Given the description of an element on the screen output the (x, y) to click on. 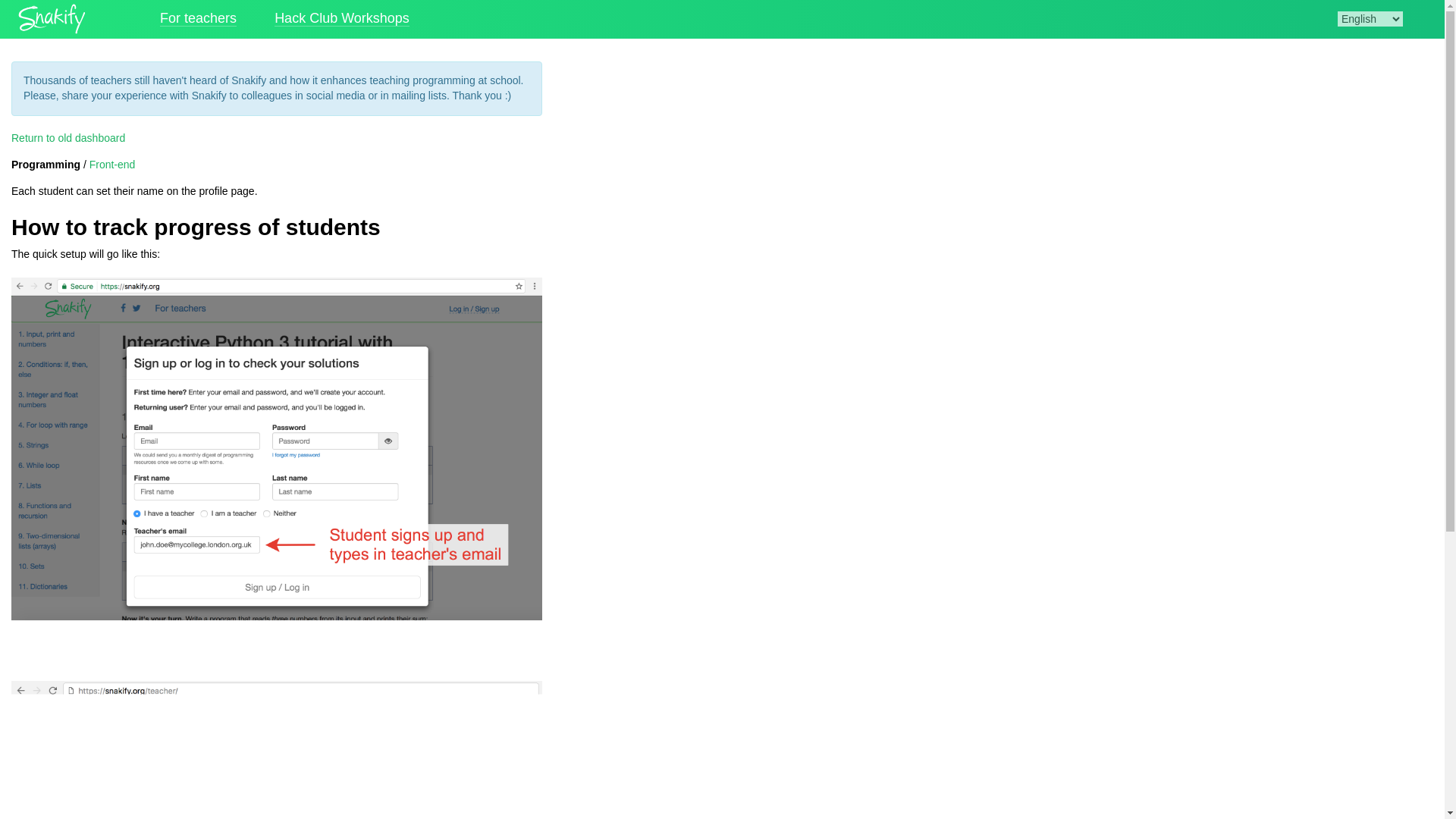
For teachers (197, 18)
Return to old dashboard (68, 137)
Front-end (111, 164)
Hack Club Workshops (342, 18)
